Given the description of an element on the screen output the (x, y) to click on. 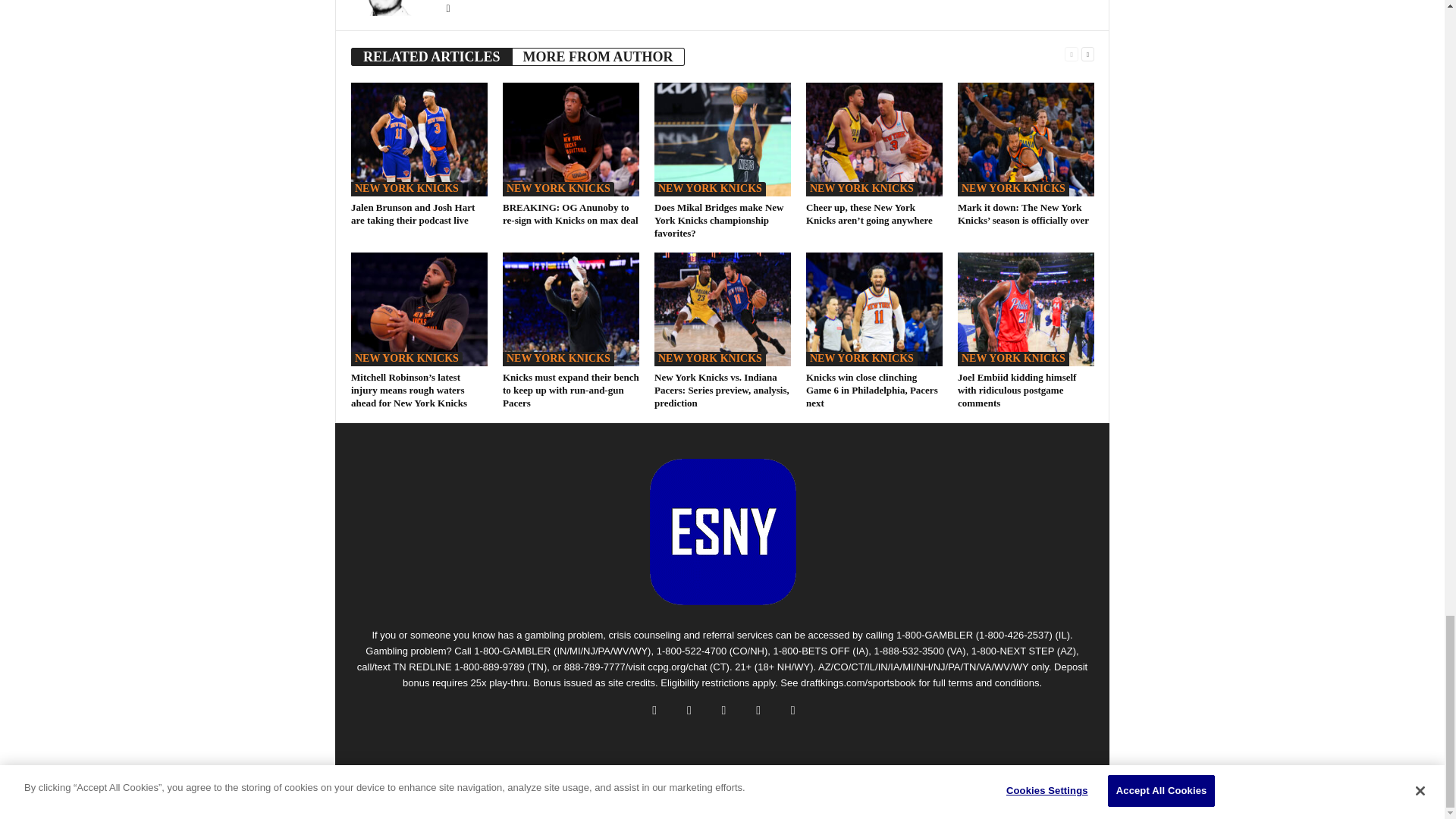
Facebook (448, 9)
Jalen Brunson and Josh Hart are taking their podcast live (418, 139)
Jalen Brunson and Josh Hart are taking their podcast live (412, 213)
BREAKING: OG Anunoby to re-sign with Knicks on max deal (570, 139)
